Given the description of an element on the screen output the (x, y) to click on. 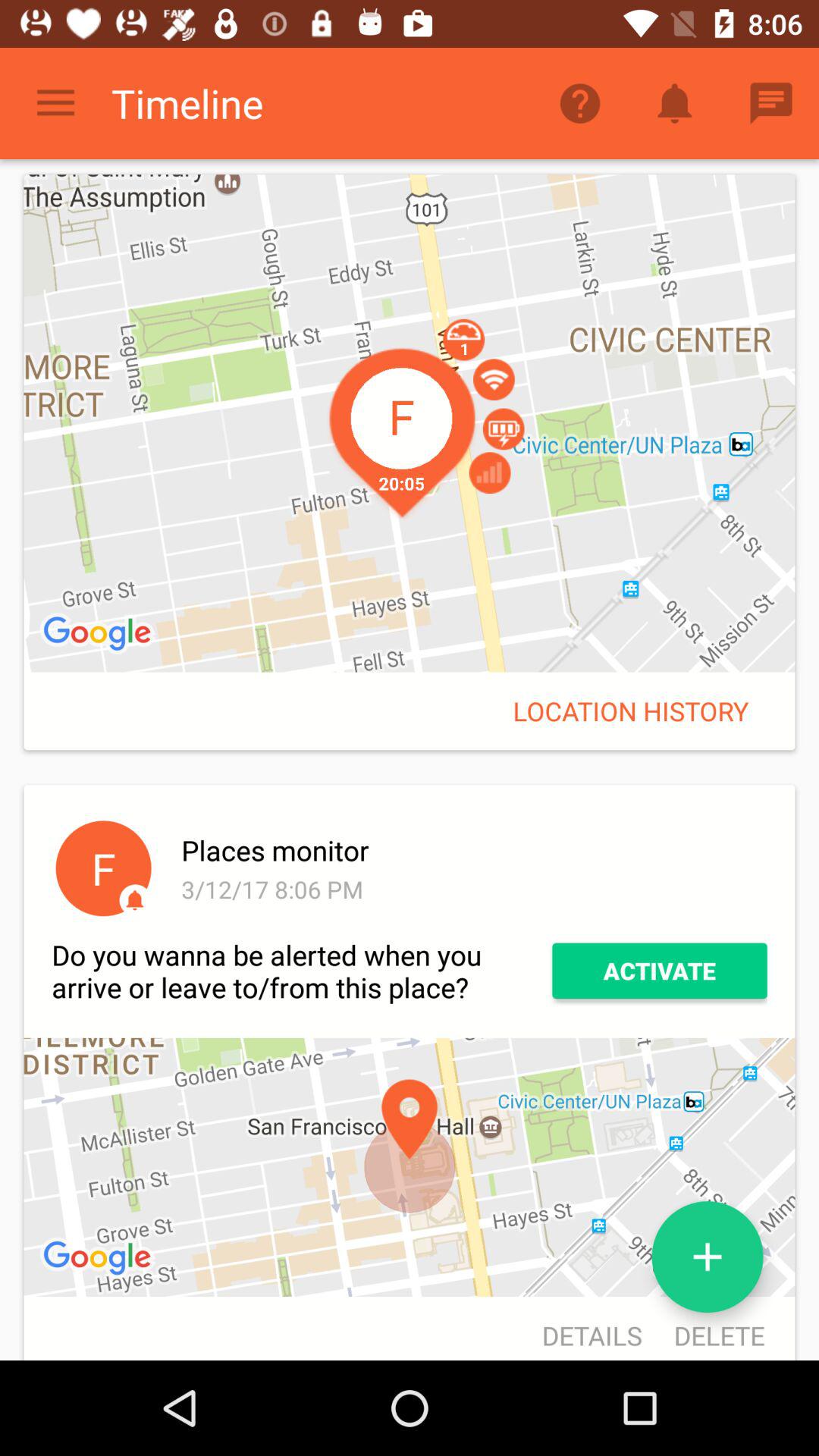
open 3 12 17 item (472, 889)
